Given the description of an element on the screen output the (x, y) to click on. 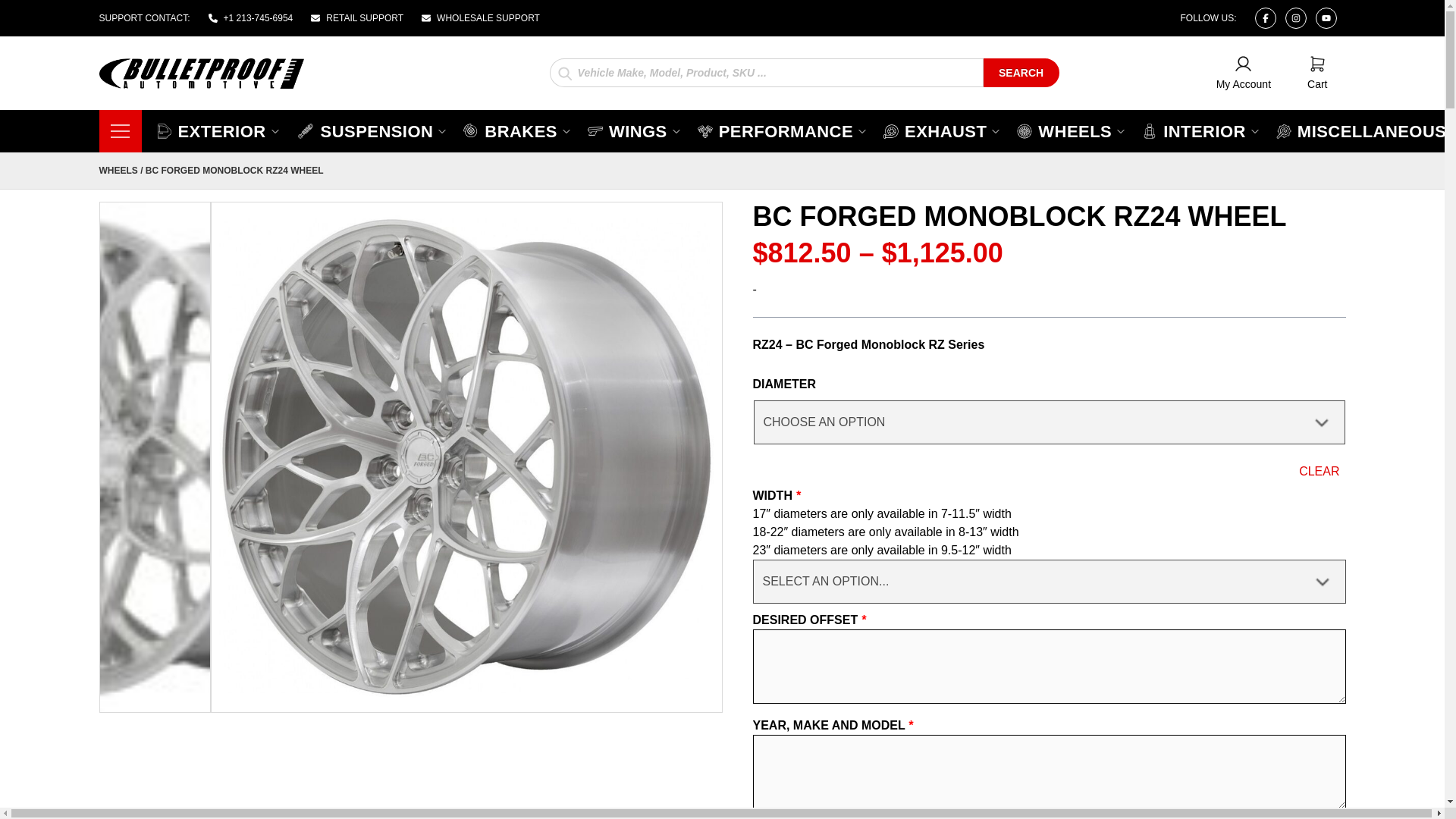
EXTERIOR (218, 130)
SEARCH (1021, 71)
WHOLESALE SUPPORT (1316, 73)
Youtube (481, 18)
Facebook (1325, 17)
SUSPENSION (1264, 17)
BRAKES (372, 130)
RETAIL SUPPORT (517, 130)
Instagram (357, 18)
